Given the description of an element on the screen output the (x, y) to click on. 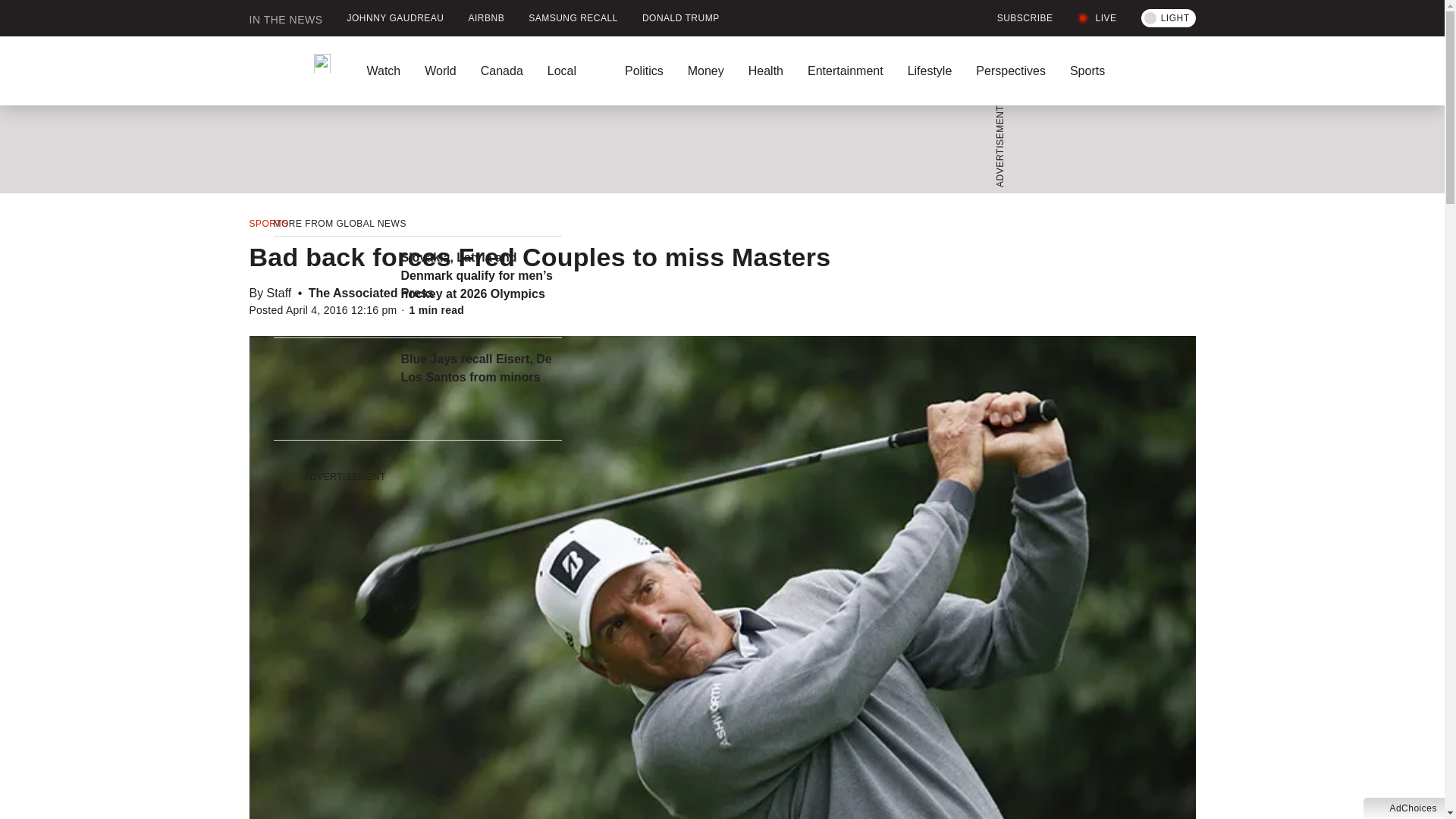
LIVE (1096, 18)
JOHNNY GAUDREAU (395, 18)
Blue Jays recall Eisert, De Los Santos from minors (480, 368)
Canada (501, 70)
DONALD TRUMP (681, 18)
Politics (643, 70)
SUBSCRIBE (1015, 18)
Entertainment (844, 70)
Lifestyle (929, 70)
GlobalNews home (289, 70)
